Given the description of an element on the screen output the (x, y) to click on. 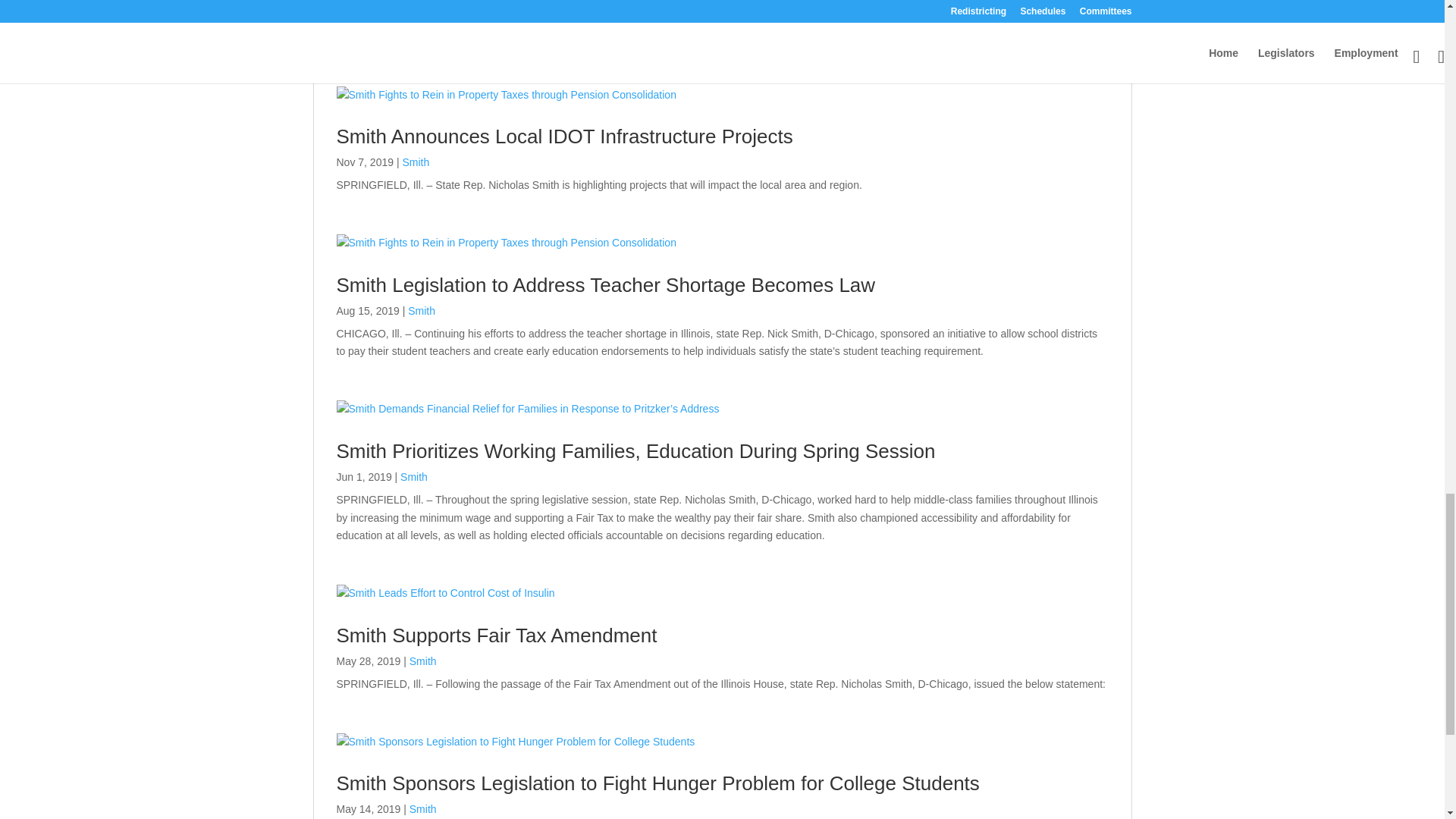
Smith (415, 162)
Smith (414, 476)
Smith Announces Local IDOT Infrastructure Projects (564, 136)
Smith (421, 310)
Smith Legislation to Address Teacher Shortage Becomes Law (606, 284)
Smith (421, 1)
